Given the description of an element on the screen output the (x, y) to click on. 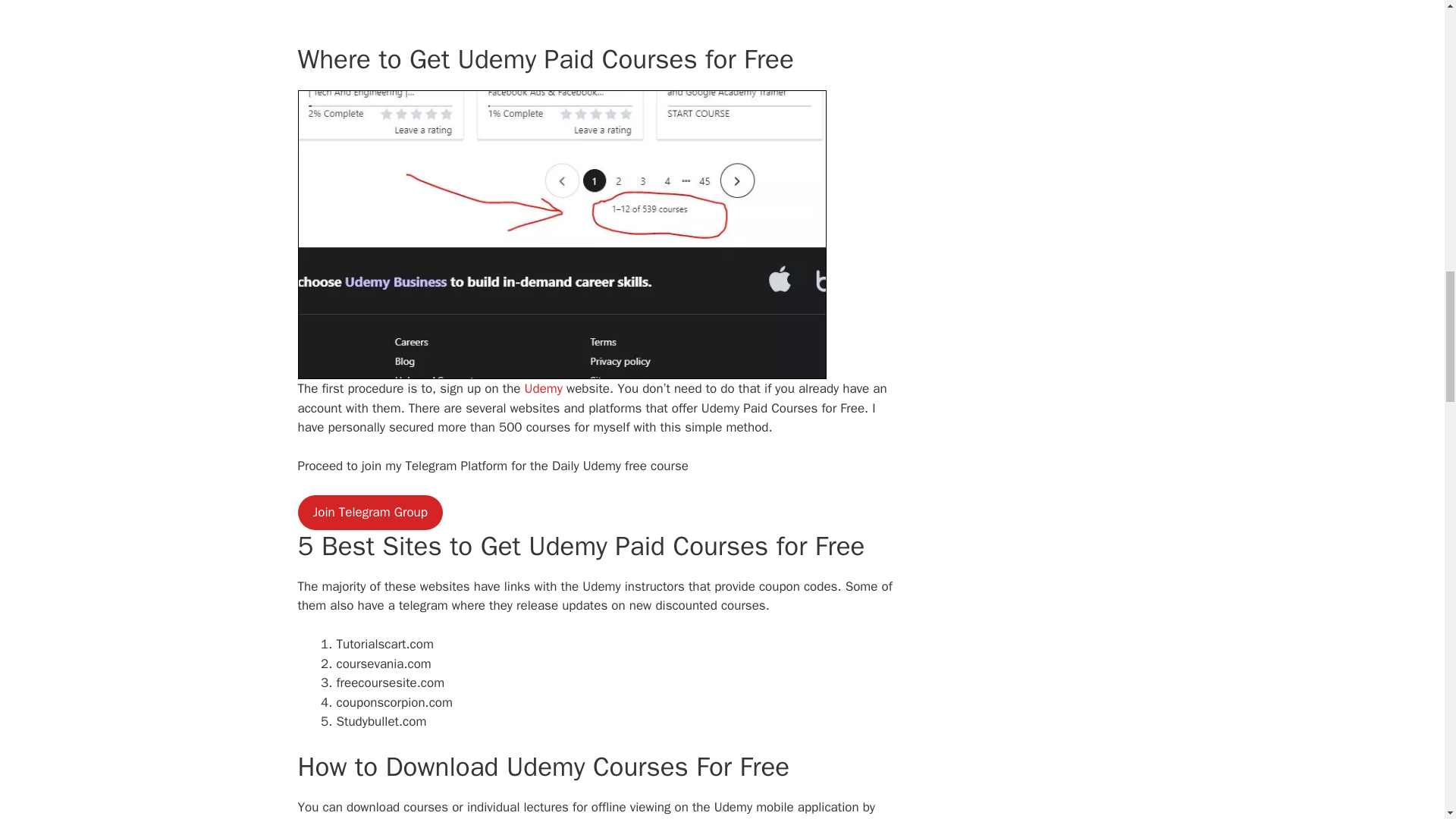
Udemy (541, 388)
Join Telegram Group (369, 512)
